Given the description of an element on the screen output the (x, y) to click on. 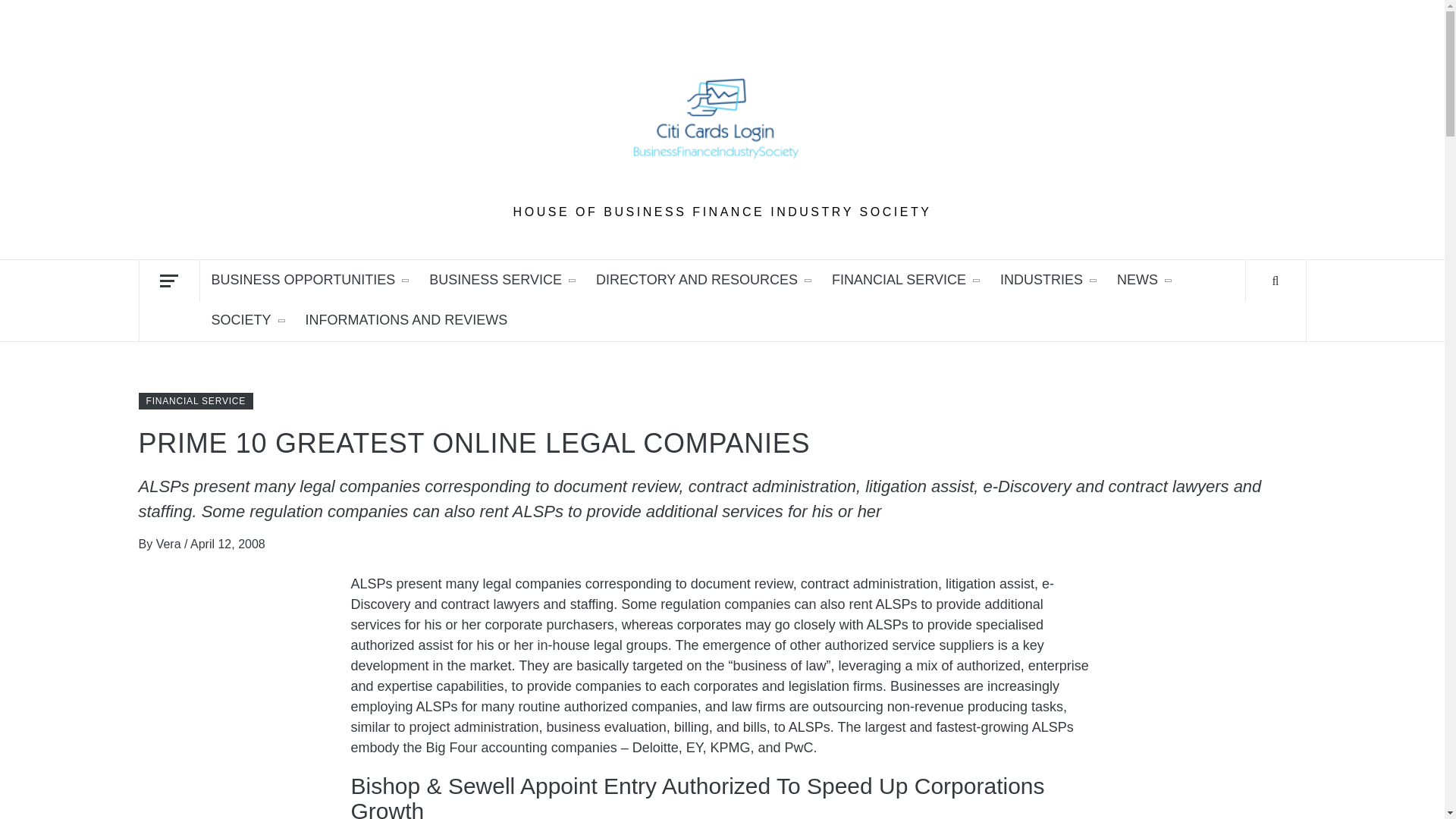
BUSINESS OPPORTUNITIES (309, 280)
BUSINESS SERVICE (501, 280)
FINANCIAL SERVICE (904, 280)
DIRECTORY AND RESOURCES (703, 280)
